Given the description of an element on the screen output the (x, y) to click on. 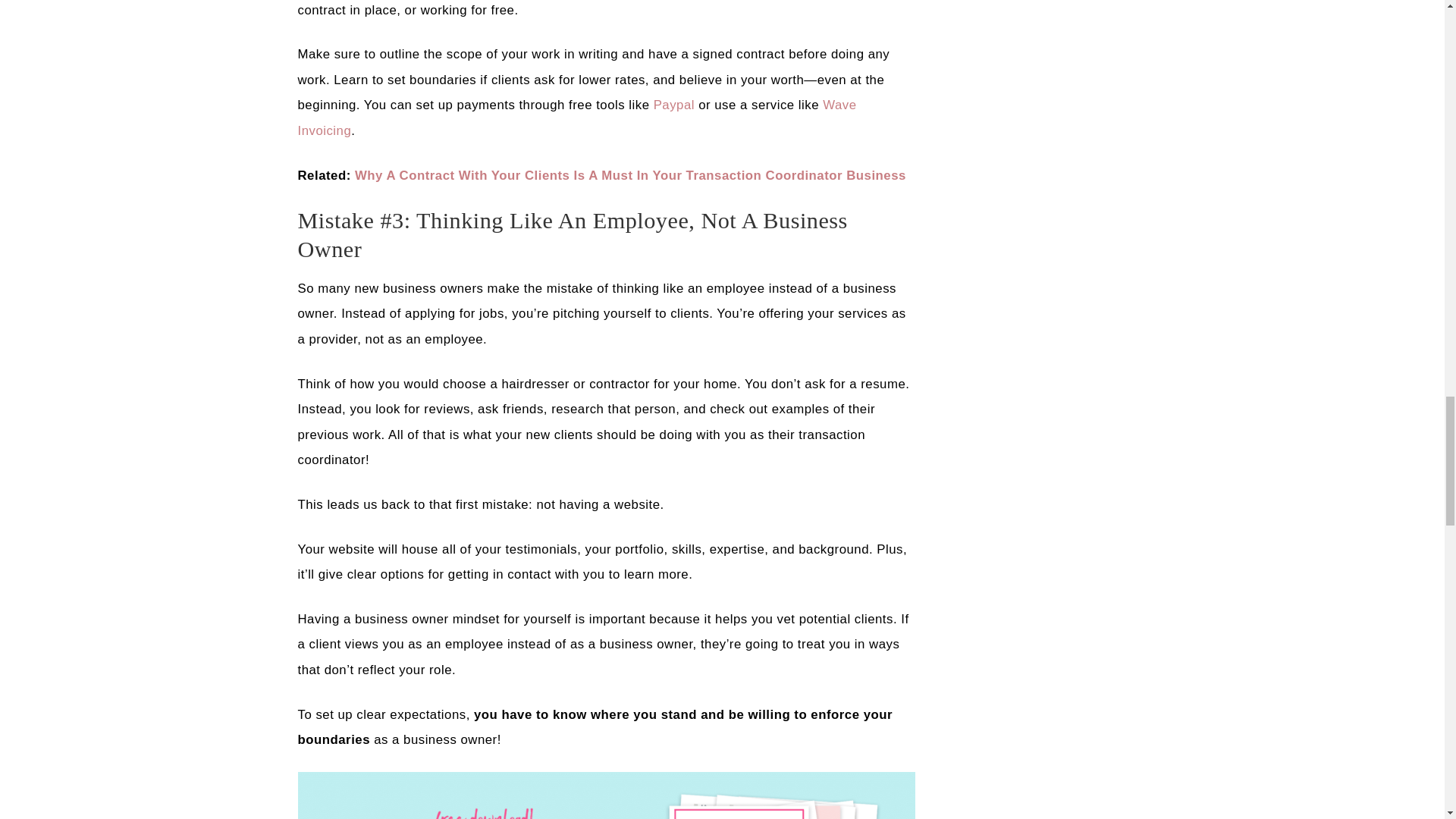
Wave Invoicing (576, 117)
Paypal (673, 104)
